Given the description of an element on the screen output the (x, y) to click on. 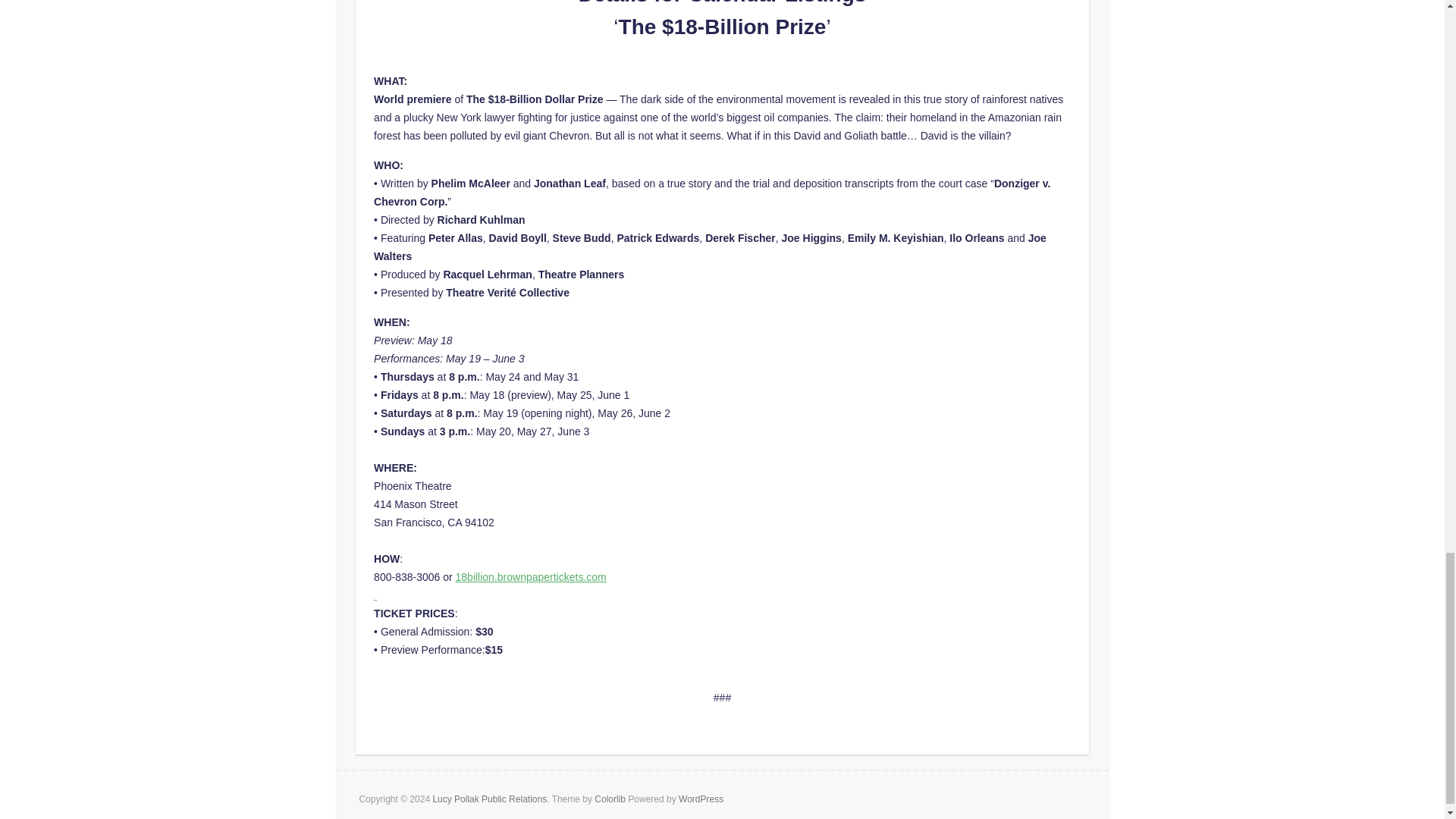
Colorlib (610, 798)
WordPress (700, 798)
Lucy Pollak Public Relations (489, 798)
